Given the description of an element on the screen output the (x, y) to click on. 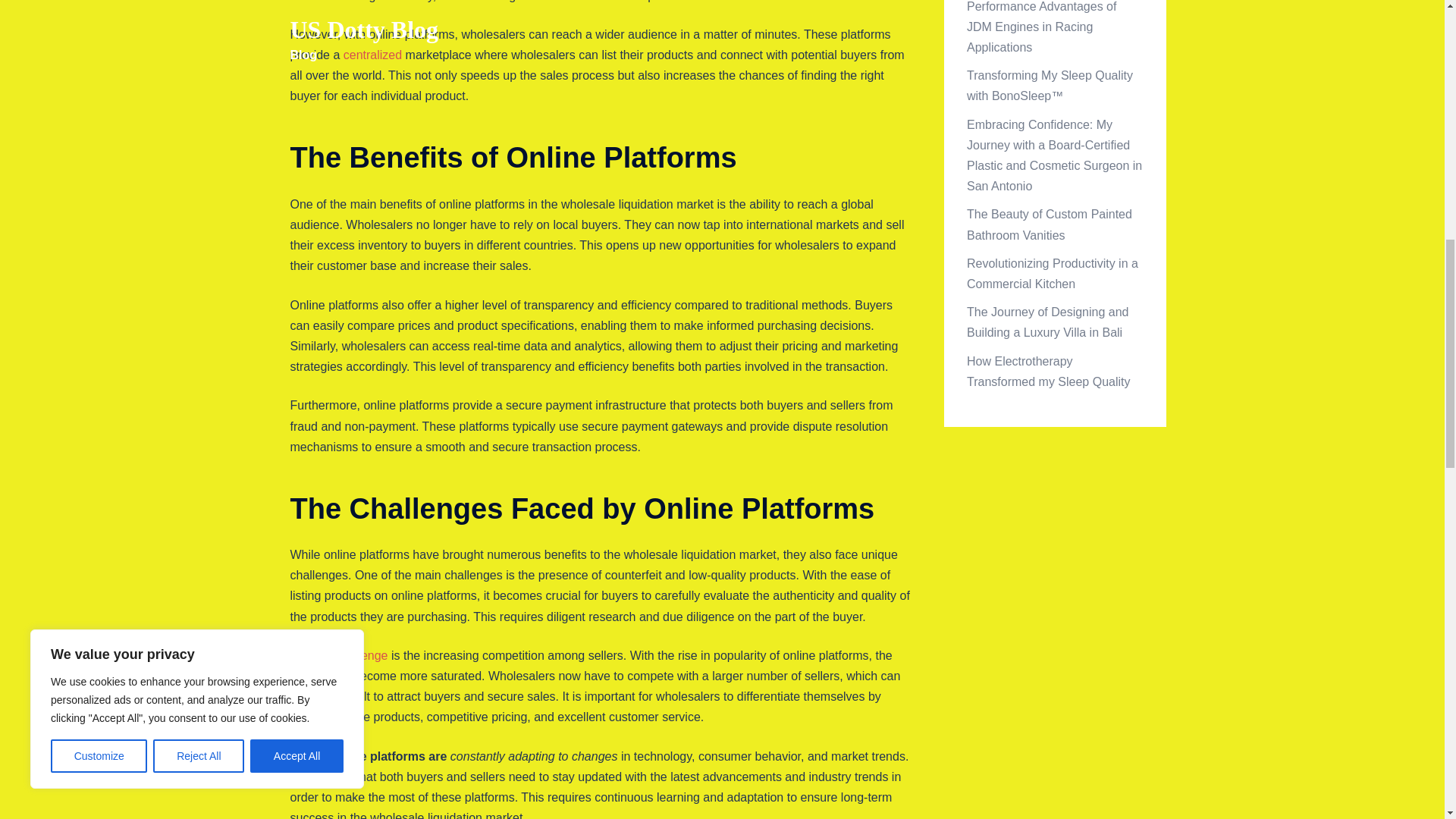
centralized (372, 54)
challenge (362, 655)
